Given the description of an element on the screen output the (x, y) to click on. 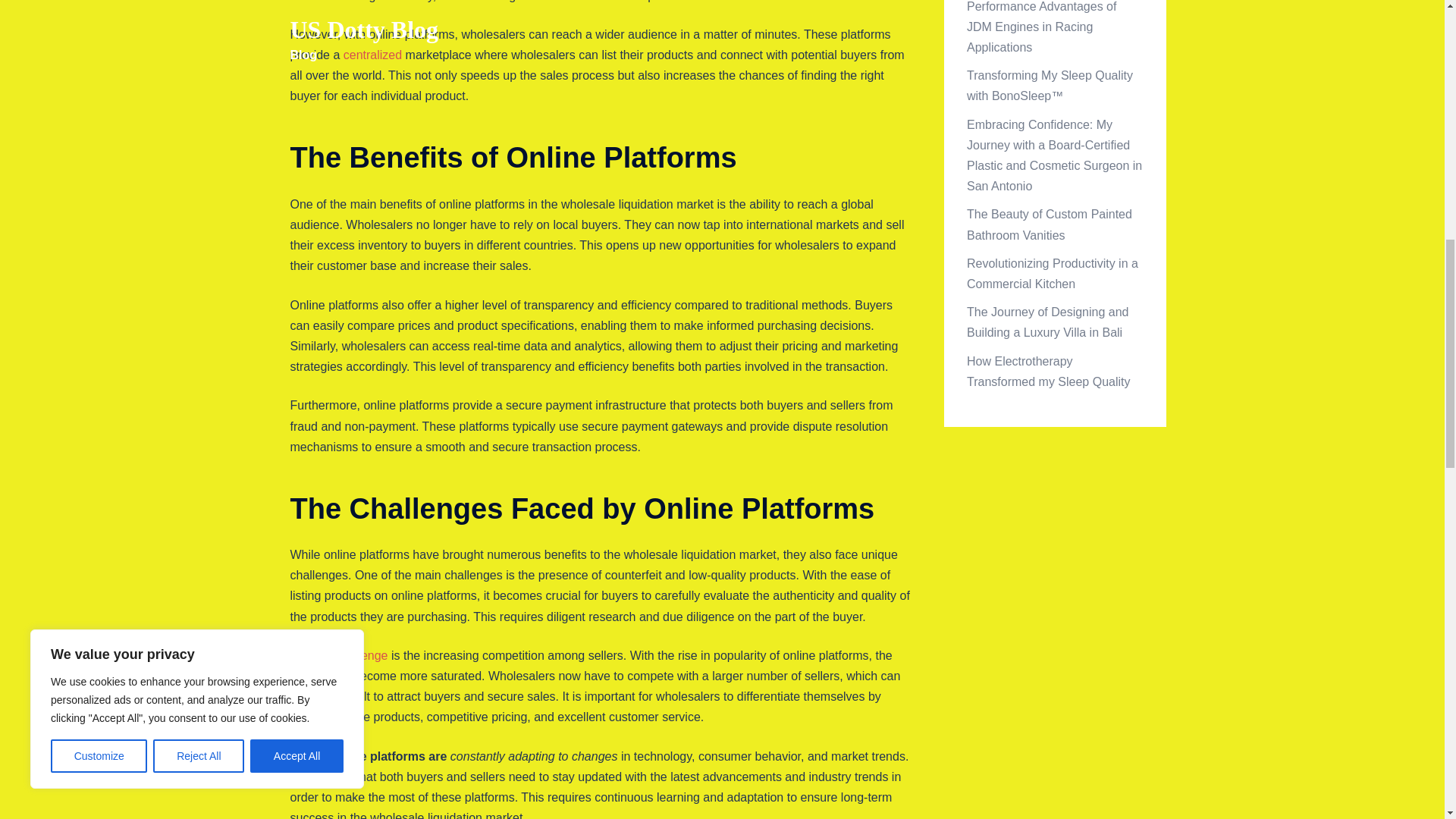
centralized (372, 54)
challenge (362, 655)
